Given the description of an element on the screen output the (x, y) to click on. 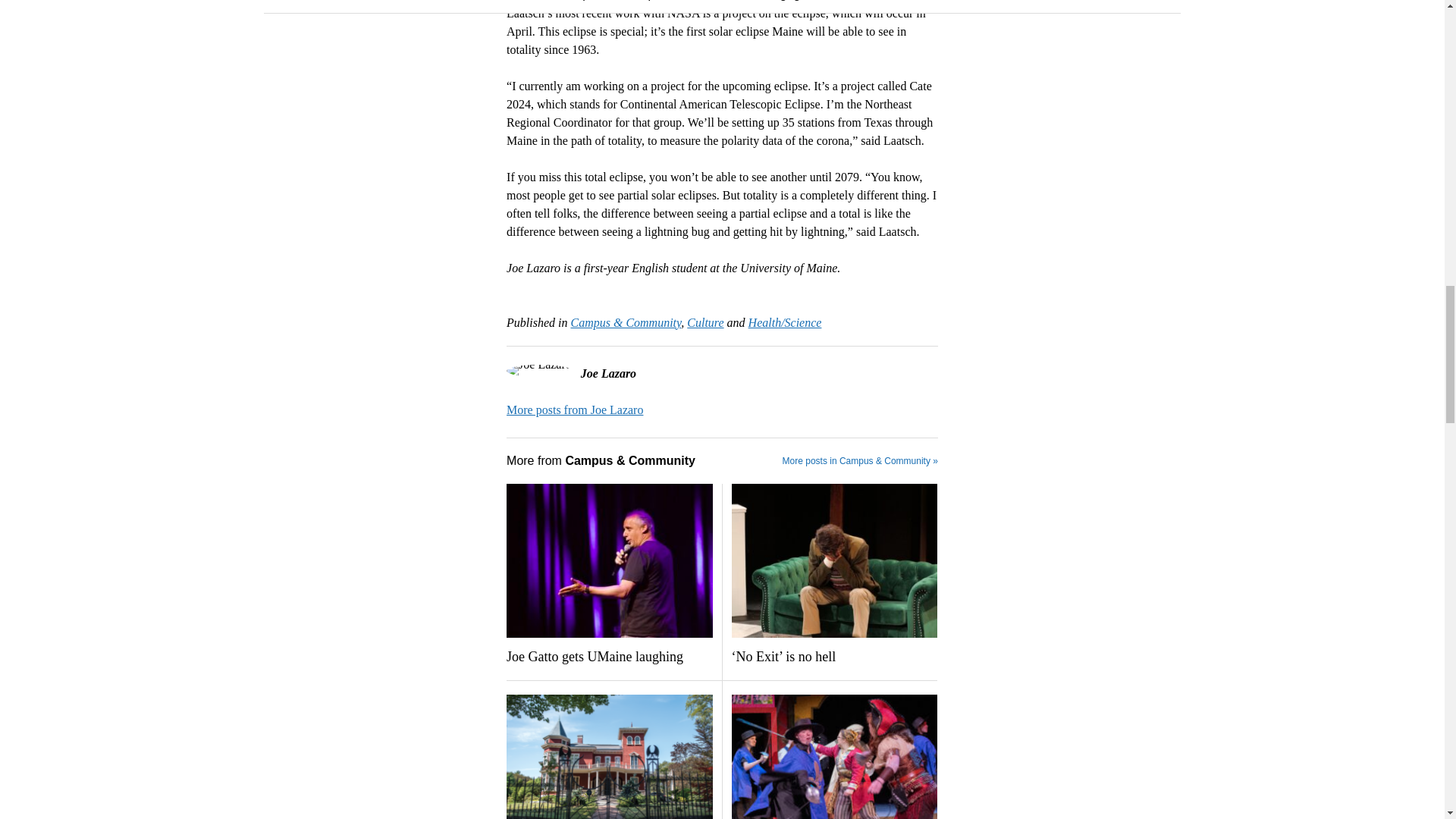
Joe Lazaro (574, 409)
View all posts in Culture (705, 321)
